Given the description of an element on the screen output the (x, y) to click on. 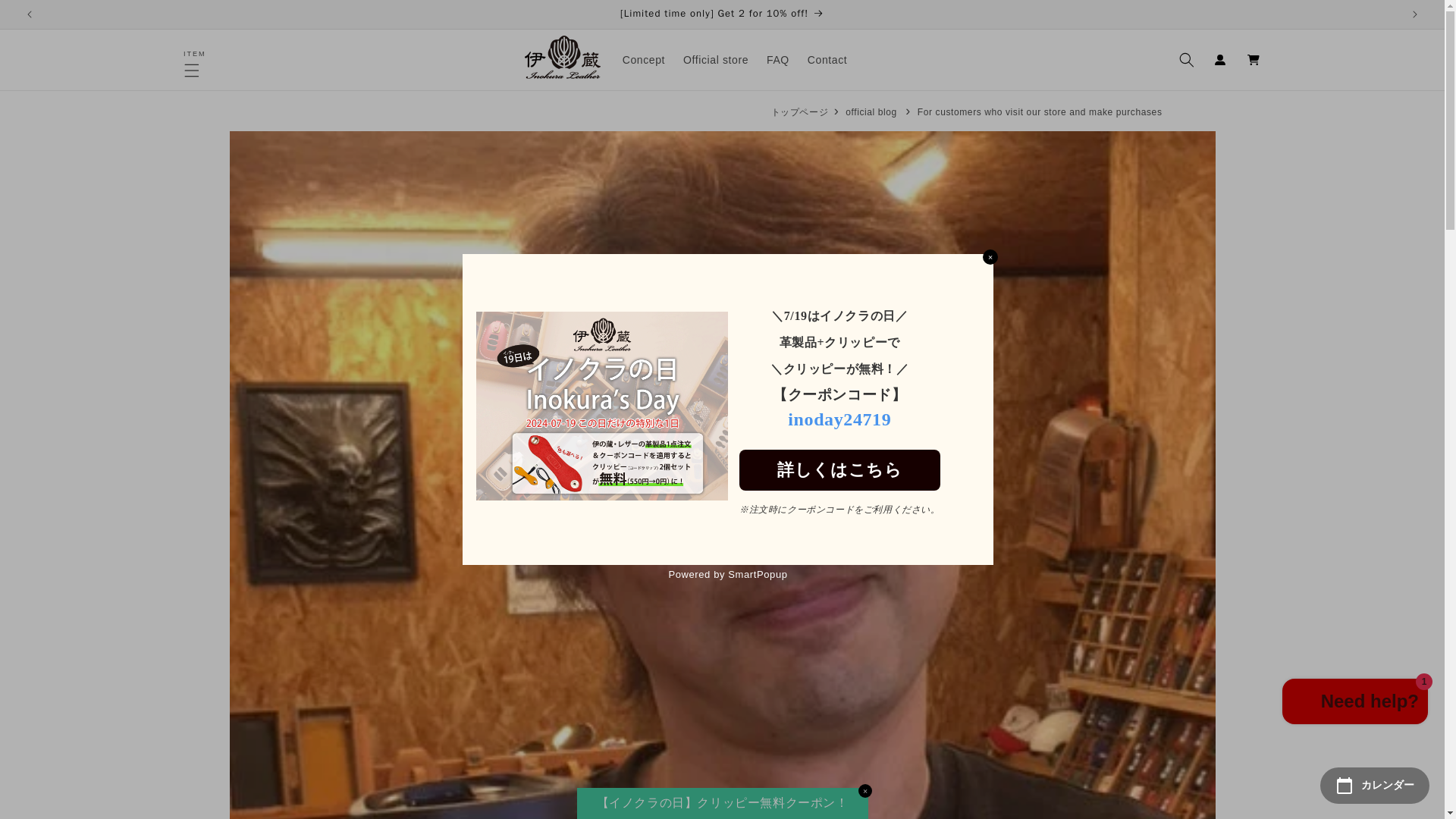
Skip to content (45, 17)
Shopify online store chat (1355, 703)
